Given the description of an element on the screen output the (x, y) to click on. 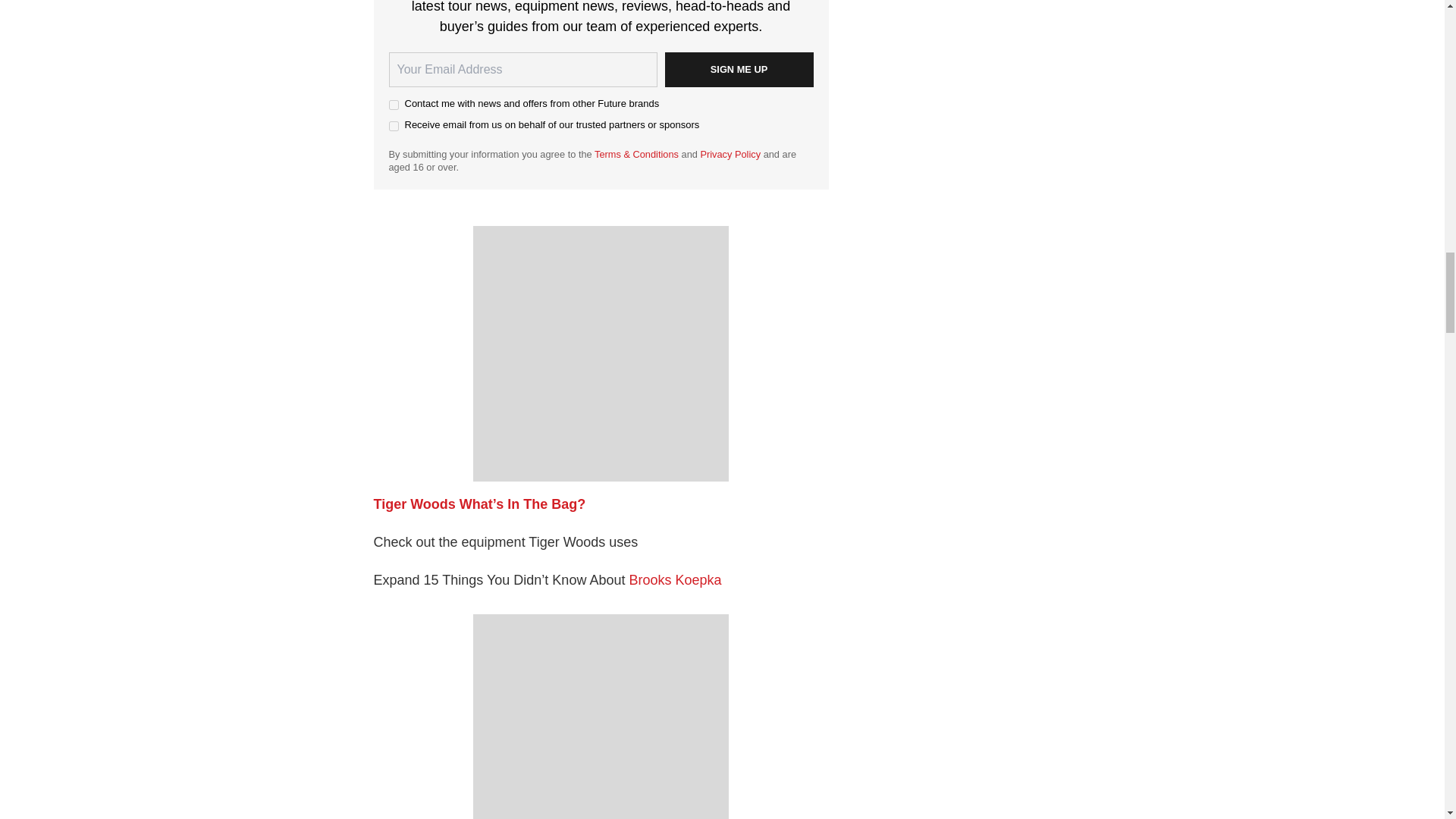
on (392, 126)
Sign me up (737, 69)
on (392, 104)
